Given the description of an element on the screen output the (x, y) to click on. 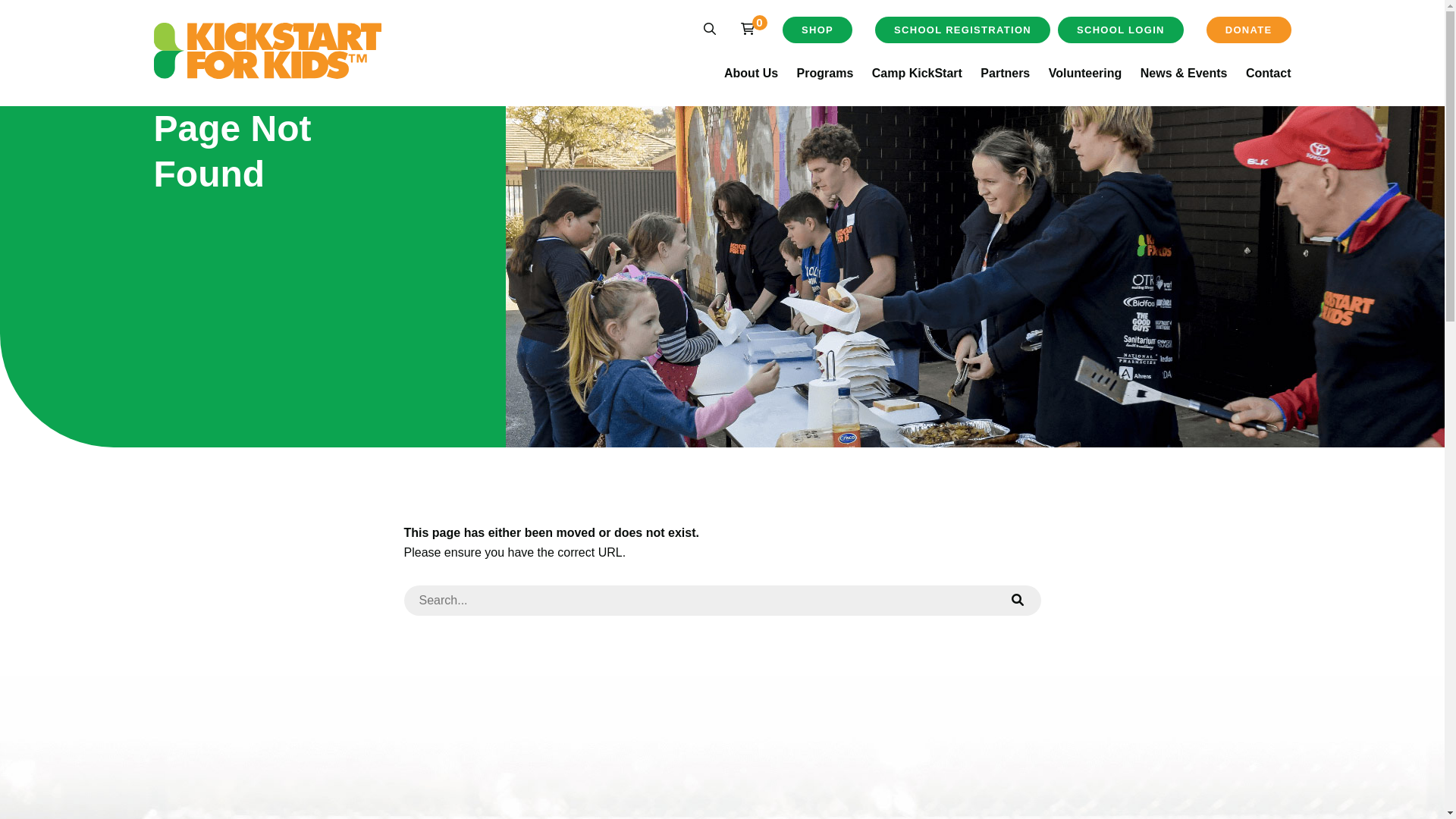
Programs Element type: text (825, 72)
News & Events Element type: text (1183, 72)
DONATE Element type: text (1248, 29)
Partners Element type: text (1004, 72)
Volunteering Element type: text (1085, 72)
Camp KickStart Element type: text (917, 72)
About Us Element type: text (751, 72)
0 Element type: text (748, 28)
Contact Element type: text (1268, 72)
SCHOOL REGISTRATION Element type: text (962, 29)
SHOP Element type: text (817, 29)
SCHOOL LOGIN Element type: text (1120, 29)
